Given the description of an element on the screen output the (x, y) to click on. 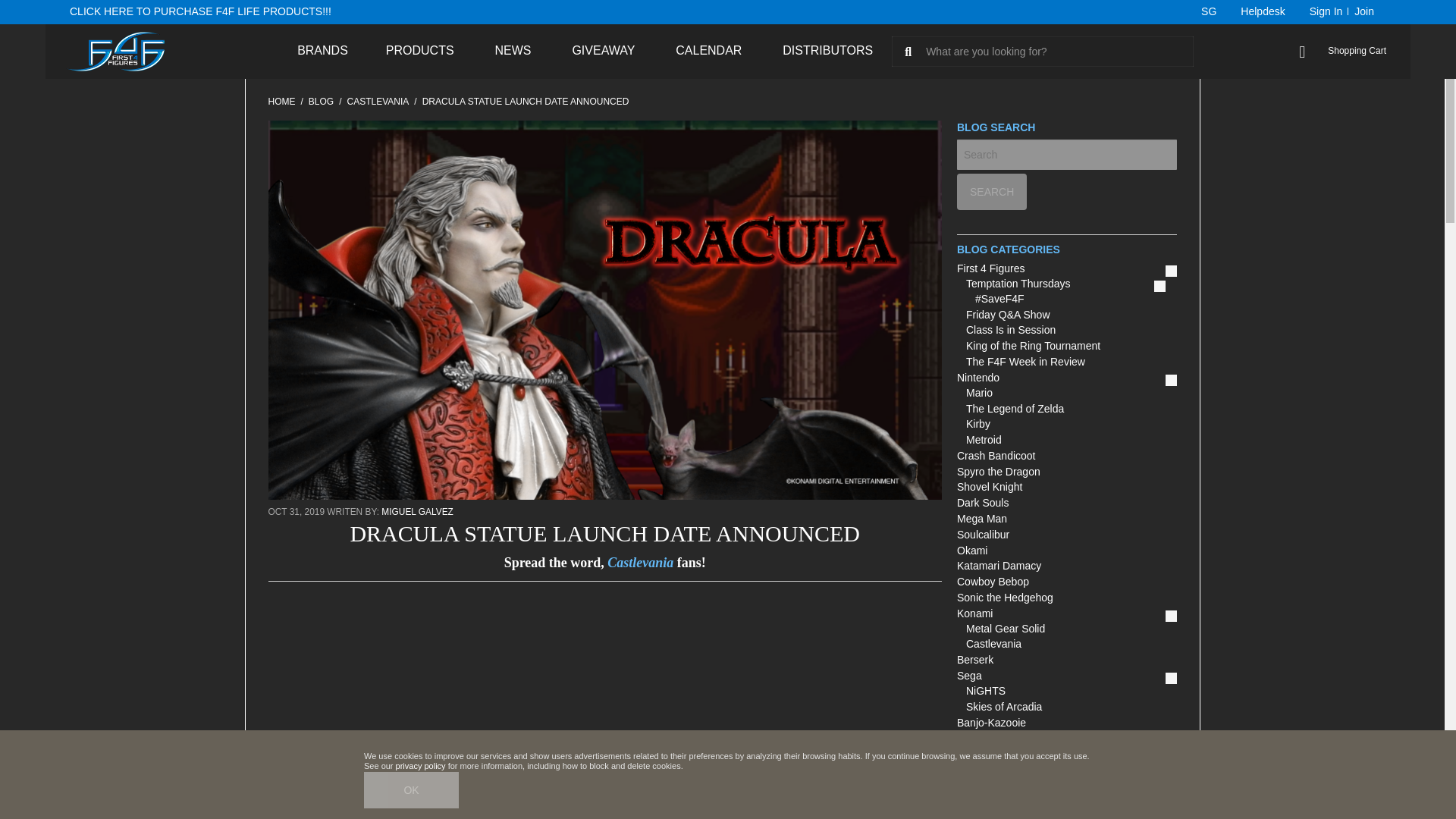
Join (1364, 11)
Go to Home Page (281, 101)
Dracula Statue Launch Date Announced (604, 495)
Helpdesk (1262, 11)
Castlevania (378, 101)
Miguel Galvez (415, 511)
Blog (320, 101)
CLICK HERE TO PURCHASE F4F LIFE PRODUCTS!!! (200, 10)
Dracula Statue Launch Date Announced (525, 101)
Sign In (1323, 11)
